Given the description of an element on the screen output the (x, y) to click on. 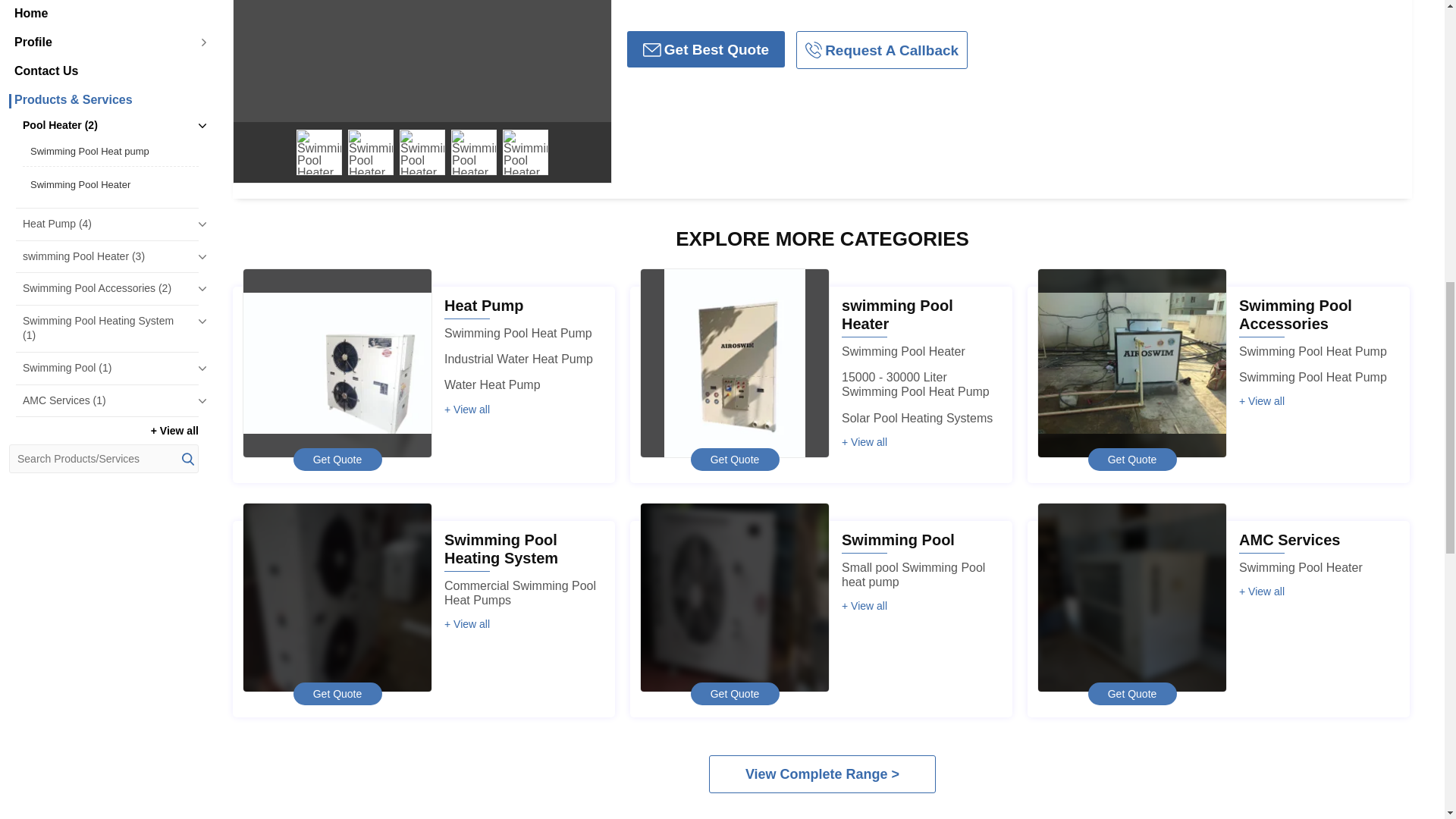
Heat Pump (483, 305)
Industrial Water Heat Pump (518, 358)
Water Heat Pump (492, 384)
Swimming Pool Heat Pump (518, 332)
